Given the description of an element on the screen output the (x, y) to click on. 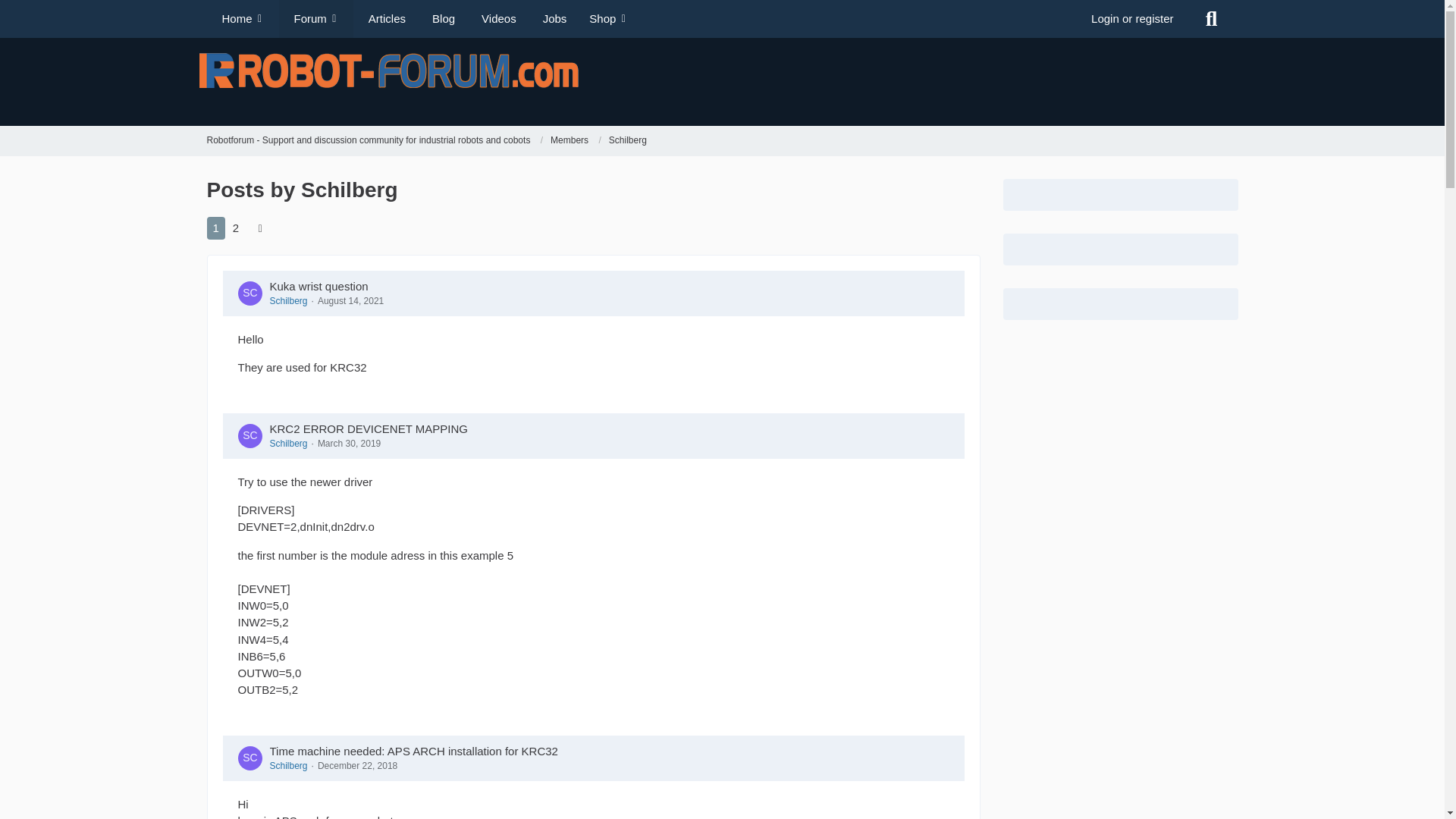
Members (575, 141)
Jobs (552, 18)
Videos (496, 18)
Schilberg (627, 141)
Members (569, 141)
Login or register (1132, 18)
Kuka wrist question (318, 286)
Articles (384, 18)
Schilberg (288, 300)
Blog (440, 18)
August 14, 2021August 14, 2021 at 10:37 AM (350, 300)
Advertisement (976, 79)
